Given the description of an element on the screen output the (x, y) to click on. 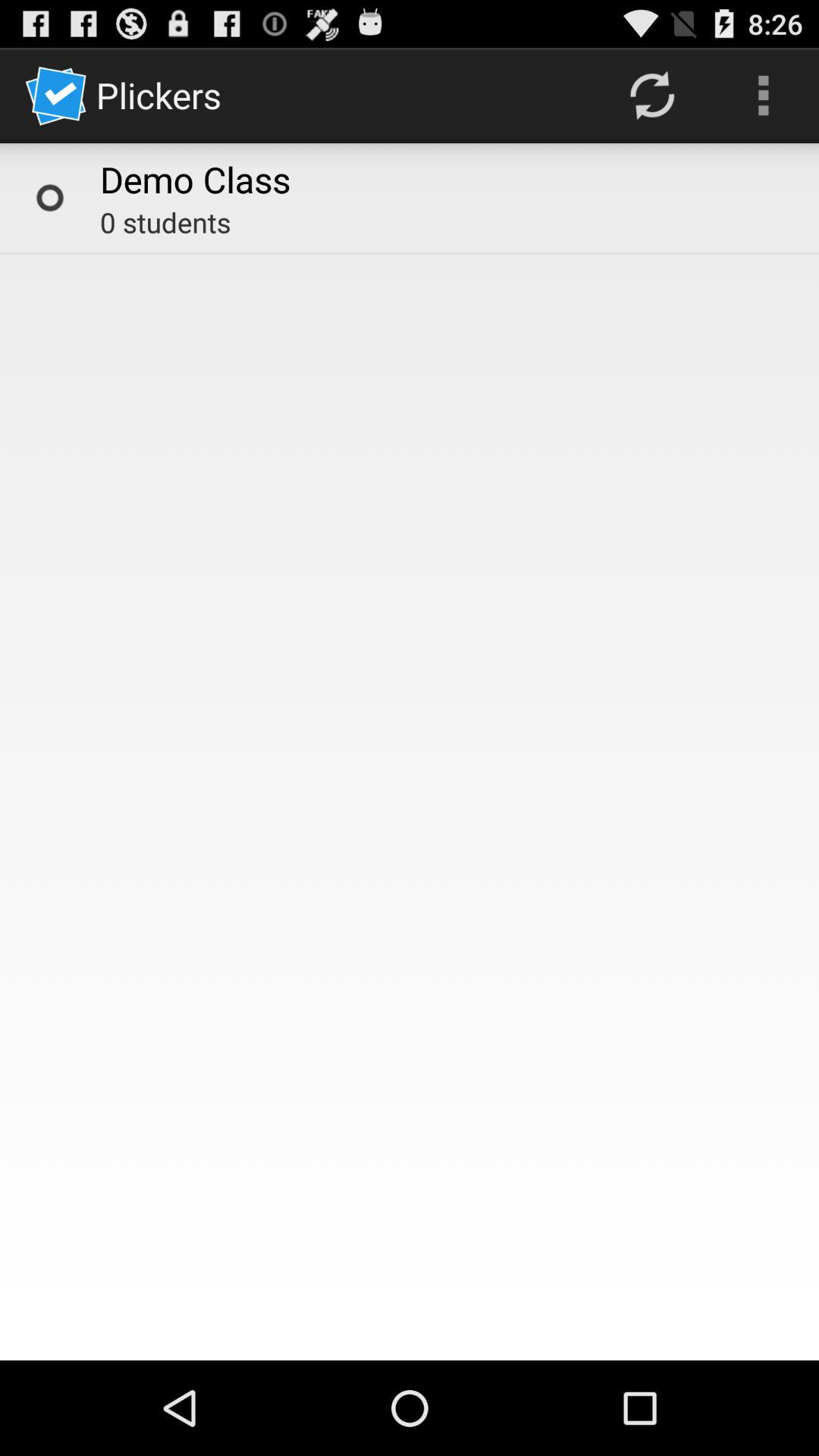
tap the item to the right of demo class (651, 95)
